Given the description of an element on the screen output the (x, y) to click on. 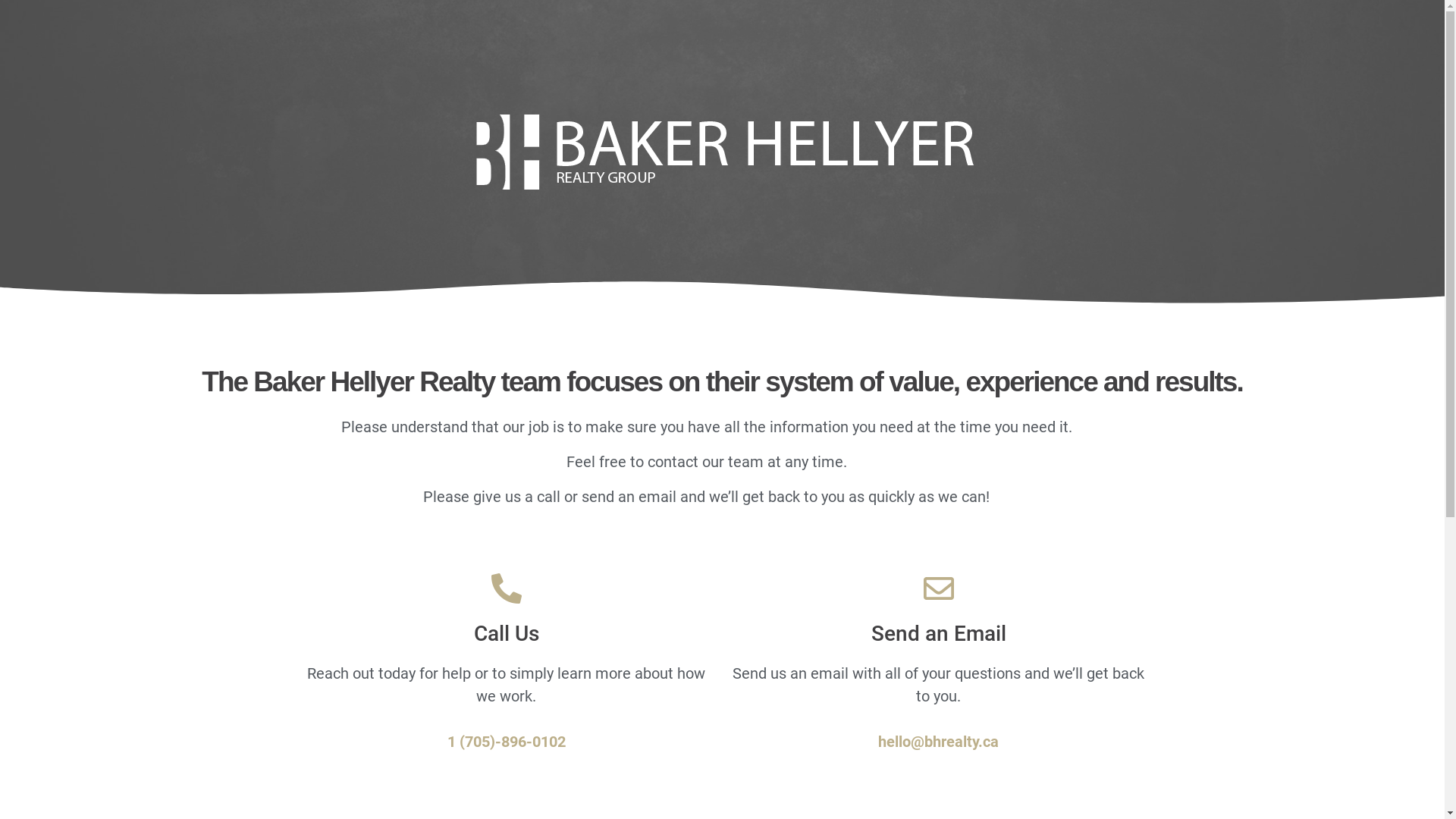
1 (705)-896-0102 Element type: text (506, 741)
hello@bhrealty.ca Element type: text (938, 741)
